Given the description of an element on the screen output the (x, y) to click on. 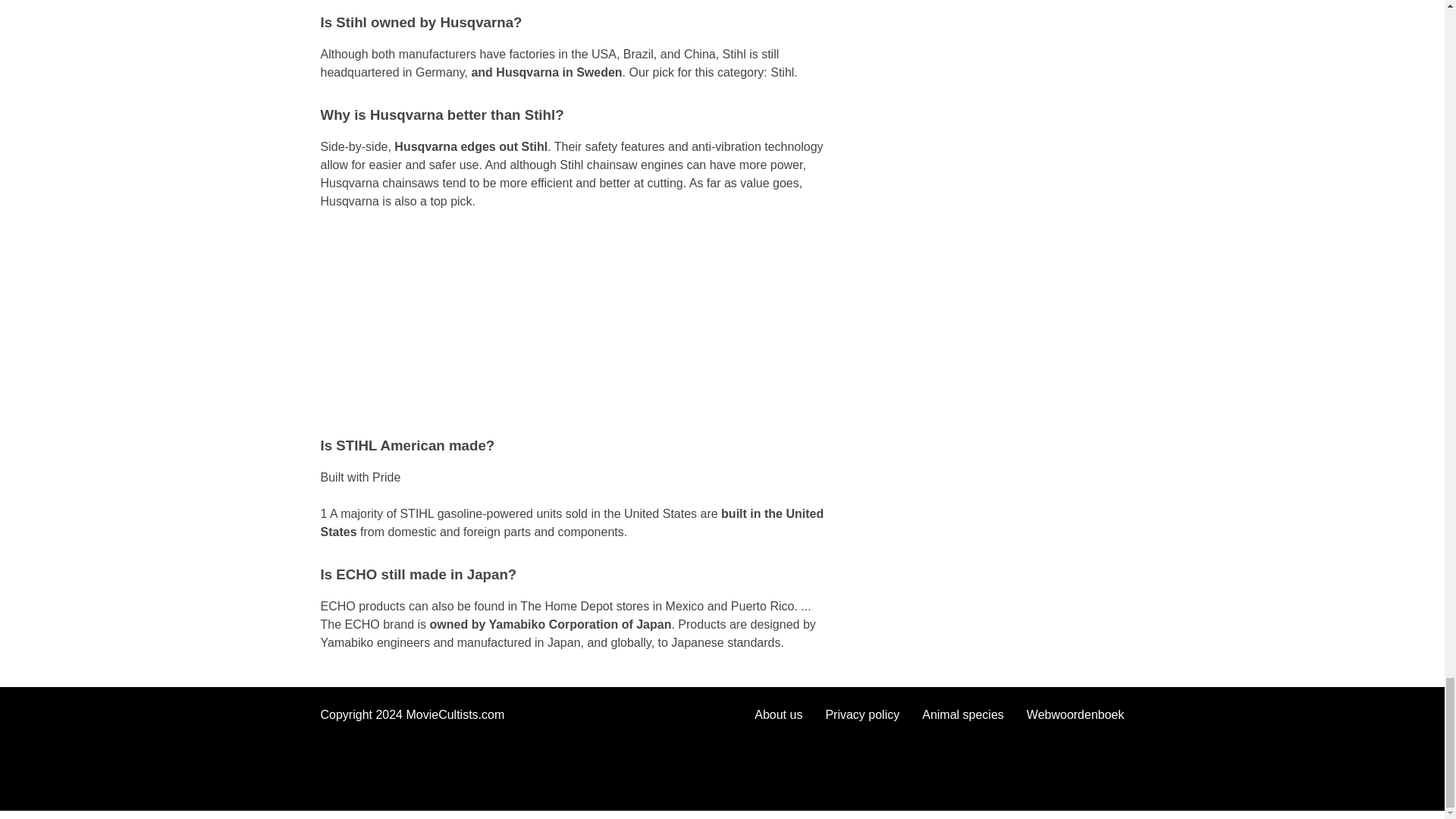
Privacy policy (862, 714)
Webwoordenboek (1075, 714)
Animal species (962, 714)
About us (778, 714)
